Given the description of an element on the screen output the (x, y) to click on. 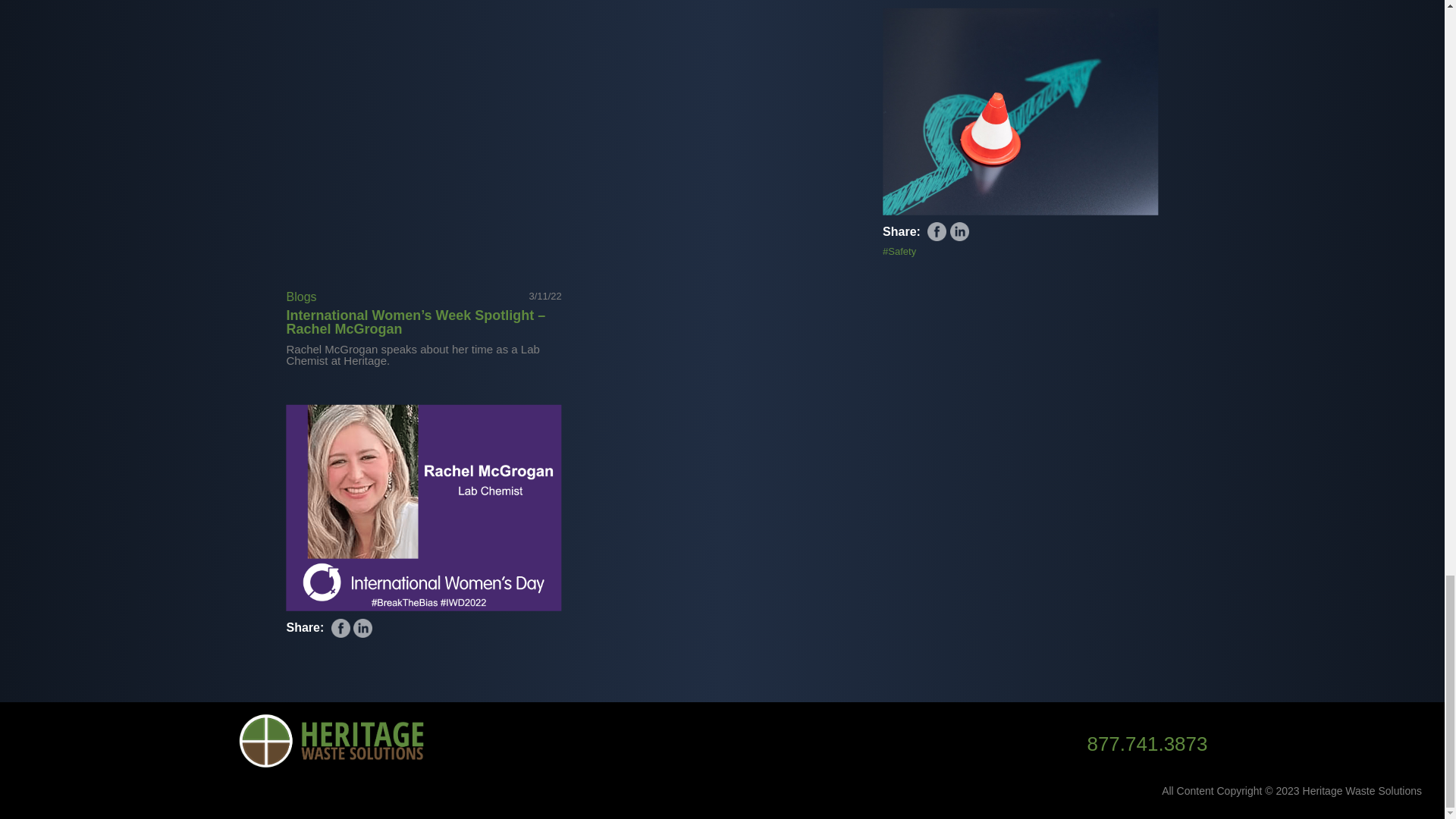
Share on Facebook (936, 230)
Share on LinkedIn (959, 230)
